Given the description of an element on the screen output the (x, y) to click on. 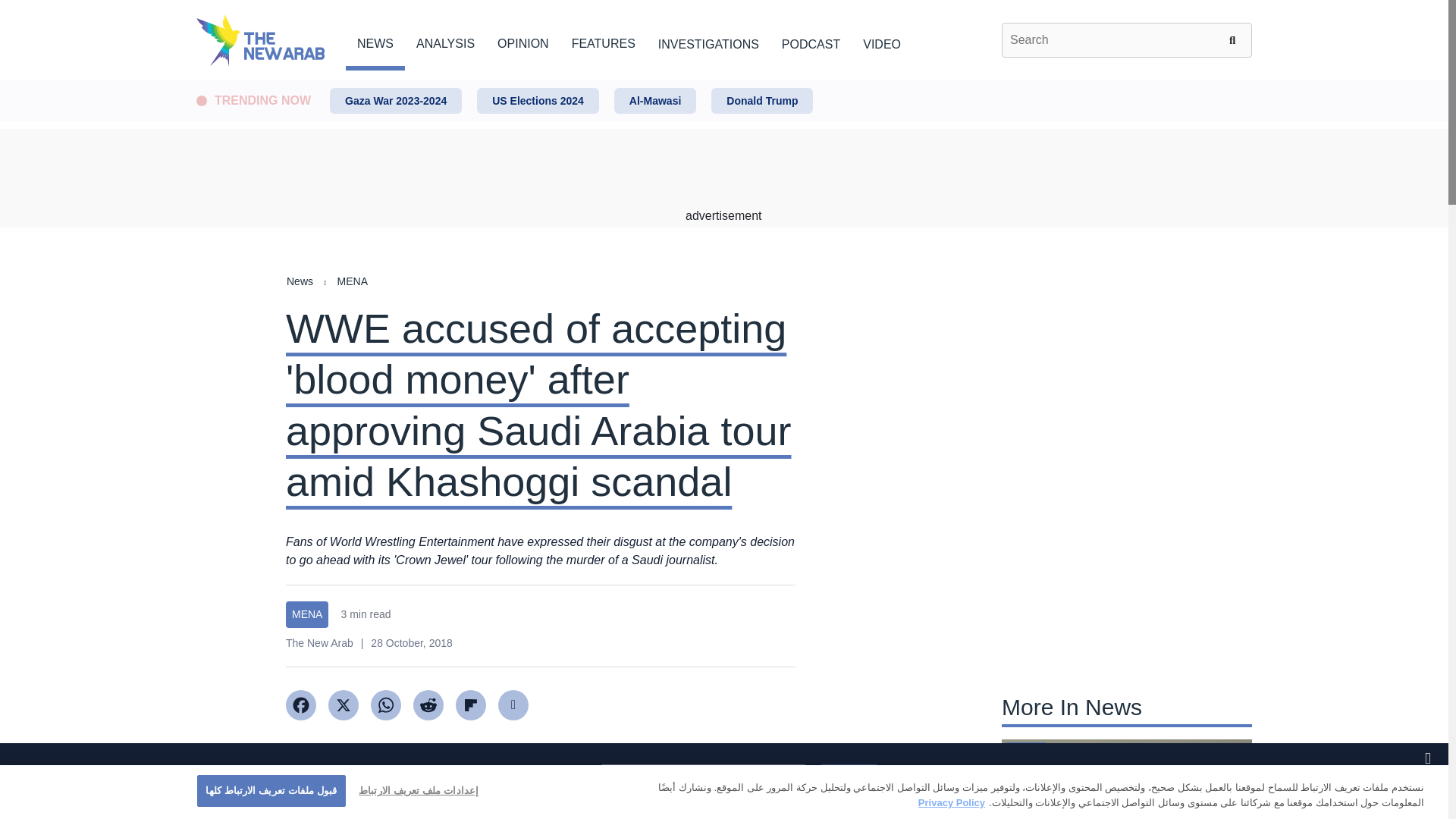
NEWS (375, 41)
OPINION (523, 41)
Search (1234, 39)
ANALYSIS (445, 41)
Skip to main content (724, 81)
